Given the description of an element on the screen output the (x, y) to click on. 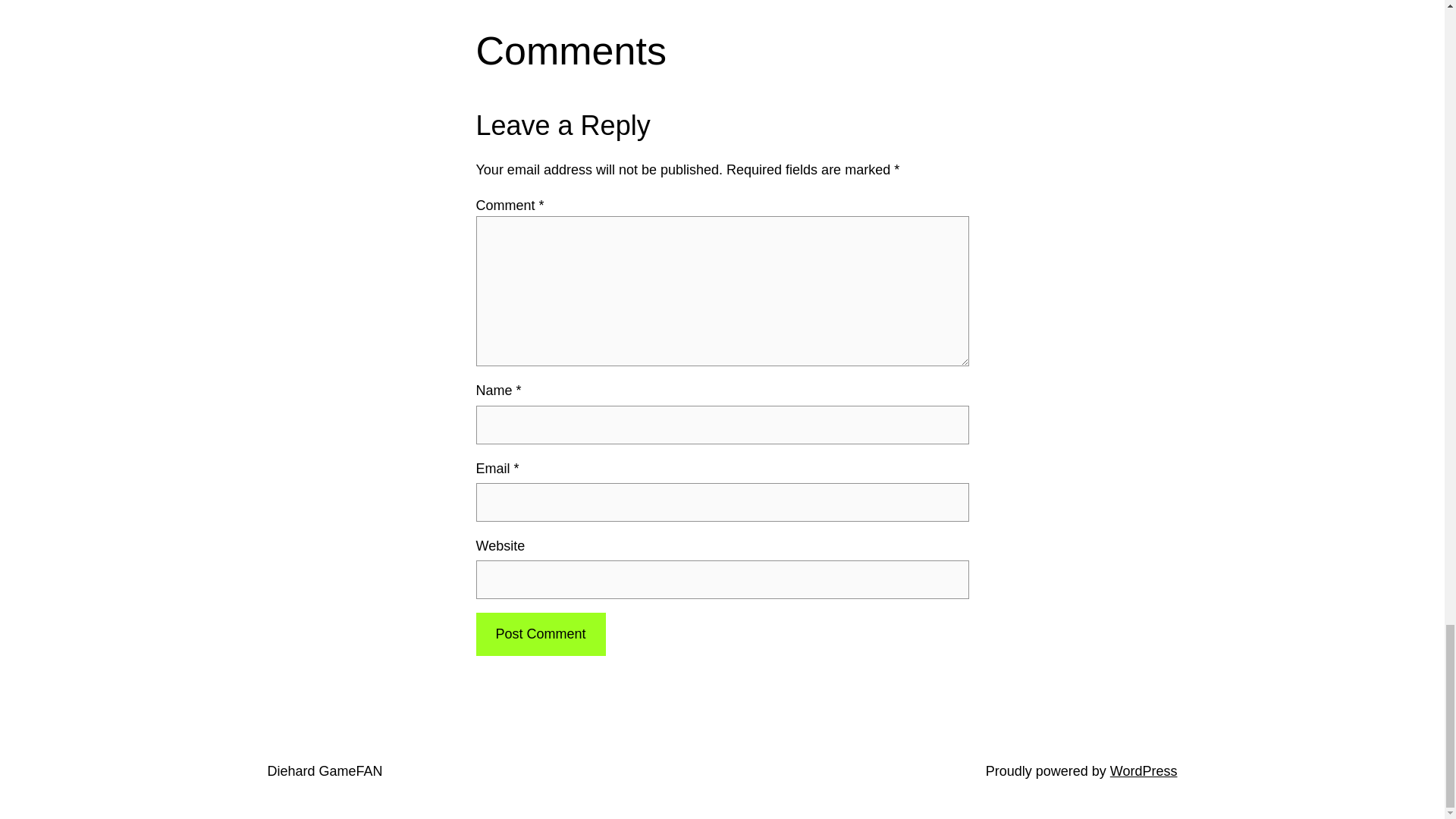
WordPress (1143, 770)
Post Comment (540, 634)
Diehard GameFAN (323, 770)
Post Comment (540, 634)
